Given the description of an element on the screen output the (x, y) to click on. 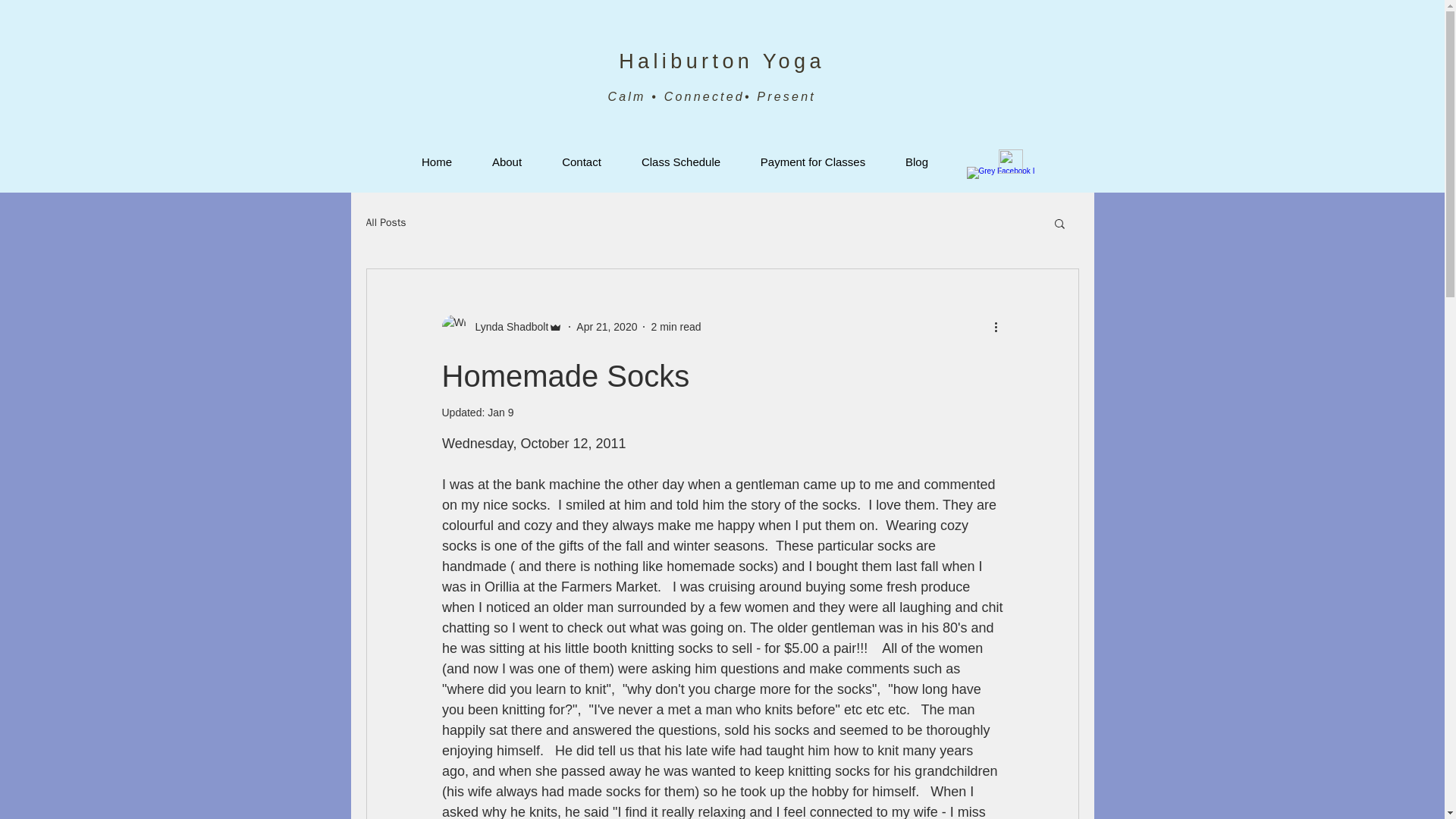
All Posts (385, 223)
Apr 21, 2020 (606, 326)
Lynda Shadbolt (501, 326)
Home (436, 160)
Jan 9 (500, 412)
Class Schedule (681, 160)
Blog (917, 160)
2 min read (675, 326)
Contact (581, 160)
Lynda Shadbolt (506, 326)
About (506, 160)
Payment for Classes (812, 160)
Haliburton Yoga (721, 60)
